Given the description of an element on the screen output the (x, y) to click on. 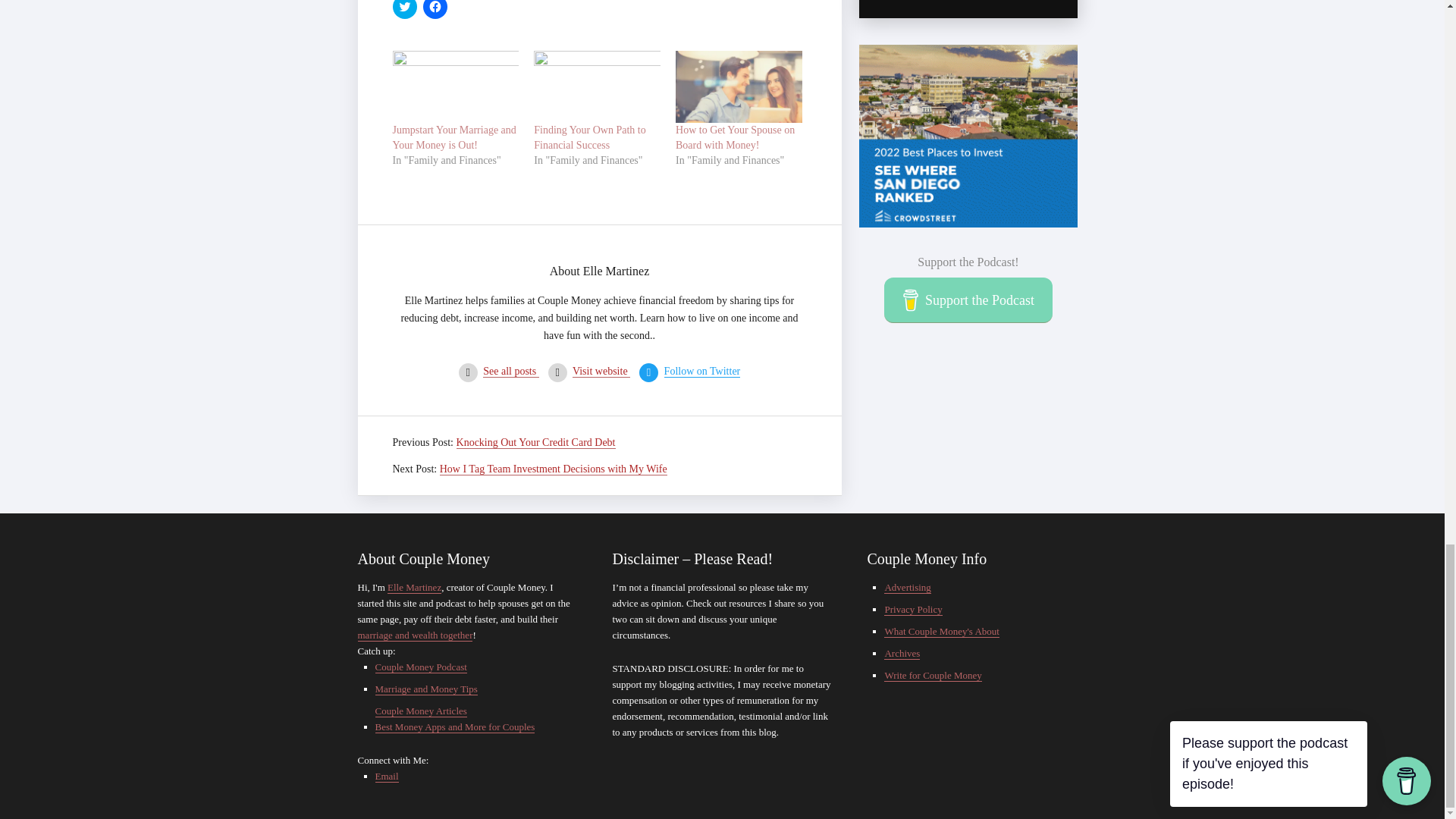
Click to share on Twitter (404, 9)
Knocking Out Your Credit Card Debt (536, 442)
Visit website (601, 371)
Jumpstart Your Marriage and Your Money is Out! (454, 137)
Finding Your Own Path to Financial Success (589, 137)
Jumpstart Your Marriage and Your Money is Out! (456, 86)
See all posts (510, 371)
Finding Your Own Path to Financial Success (589, 137)
Click to share on Facebook (434, 9)
How to Get Your Spouse on Board with Money! (734, 137)
How to Get Your Spouse on Board with Money! (738, 86)
Follow on Twitter (702, 371)
Finding Your Own Path to Financial Success (597, 86)
How I Tag Team Investment Decisions with My Wife (552, 469)
How to Get Your Spouse on Board with Money! (734, 137)
